Given the description of an element on the screen output the (x, y) to click on. 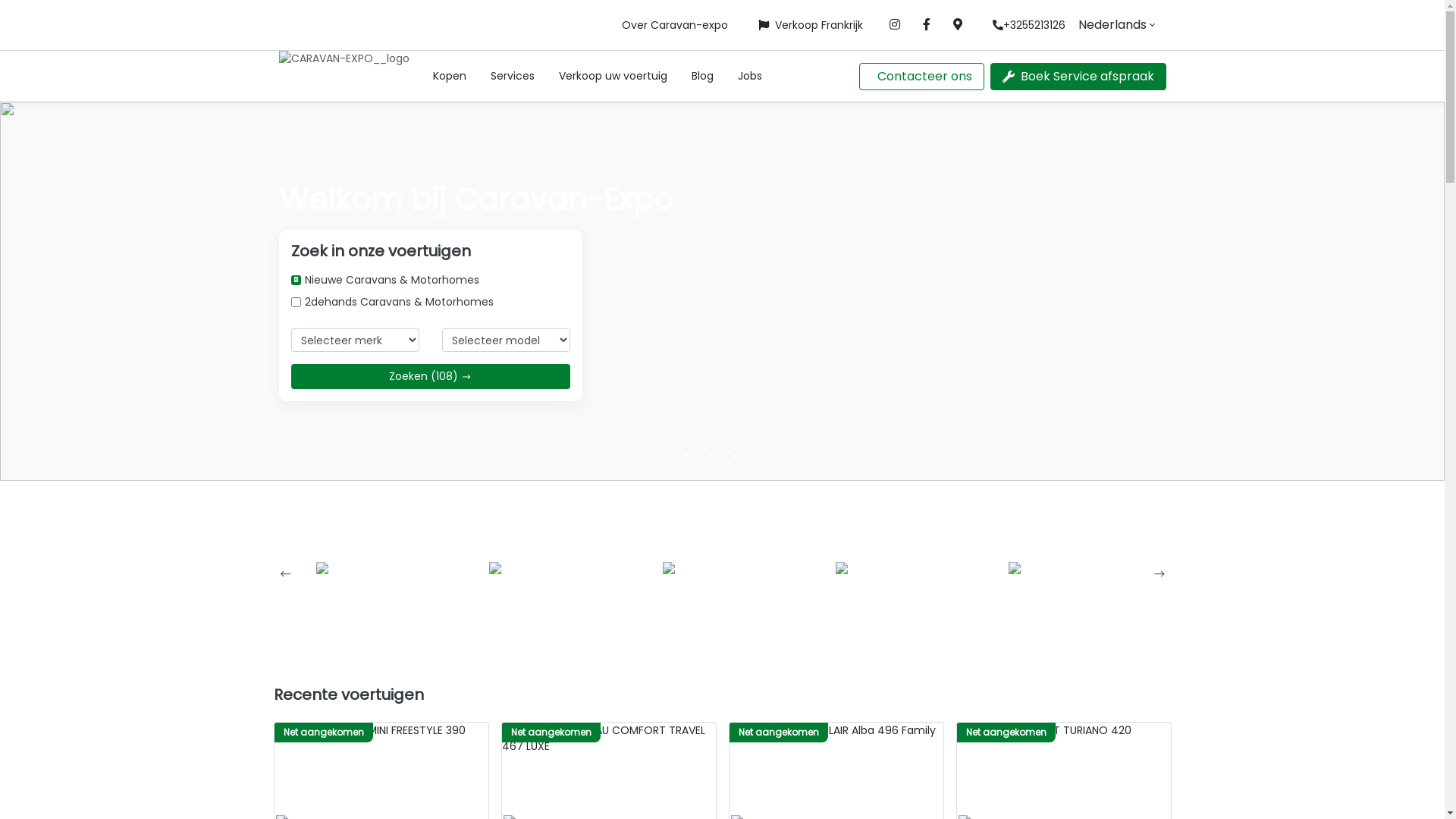
Contacteer ons Element type: text (923, 75)
Verkoop Frankrijk Element type: text (810, 23)
Zoeken (108) Element type: text (430, 376)
Jobs Element type: text (749, 76)
Over Caravan-expo Element type: text (674, 23)
Services Element type: text (511, 76)
Kopen Element type: text (448, 75)
Verkoop uw voertuig Element type: text (612, 76)
Contacteer ons Element type: text (920, 75)
Boek Service afspraak Element type: text (1078, 75)
Nederlands Element type: text (1115, 24)
+3255213126 Element type: text (1027, 23)
Blog Element type: text (702, 76)
